Given the description of an element on the screen output the (x, y) to click on. 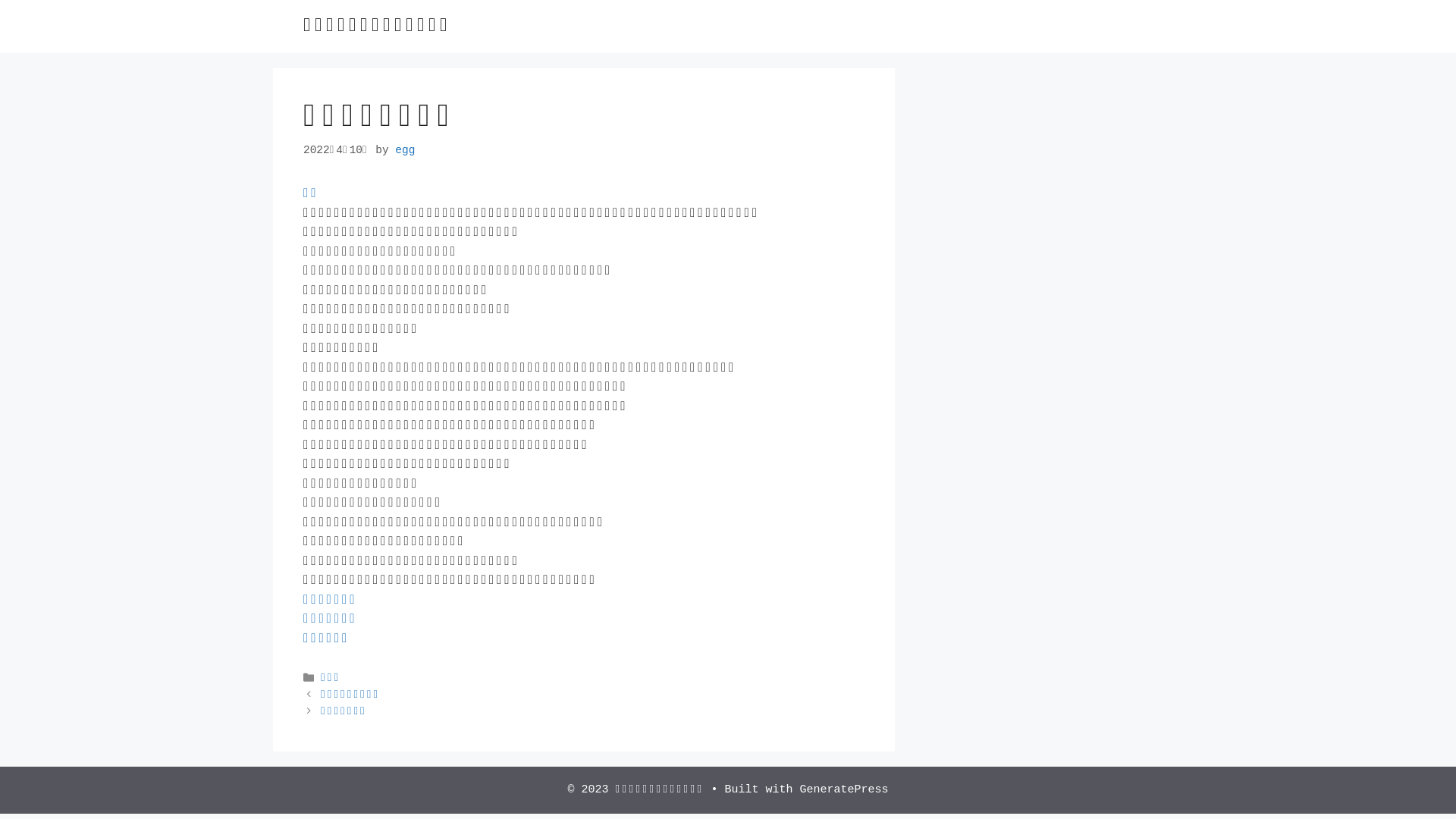
GeneratePress Element type: text (844, 788)
egg Element type: text (404, 150)
